Given the description of an element on the screen output the (x, y) to click on. 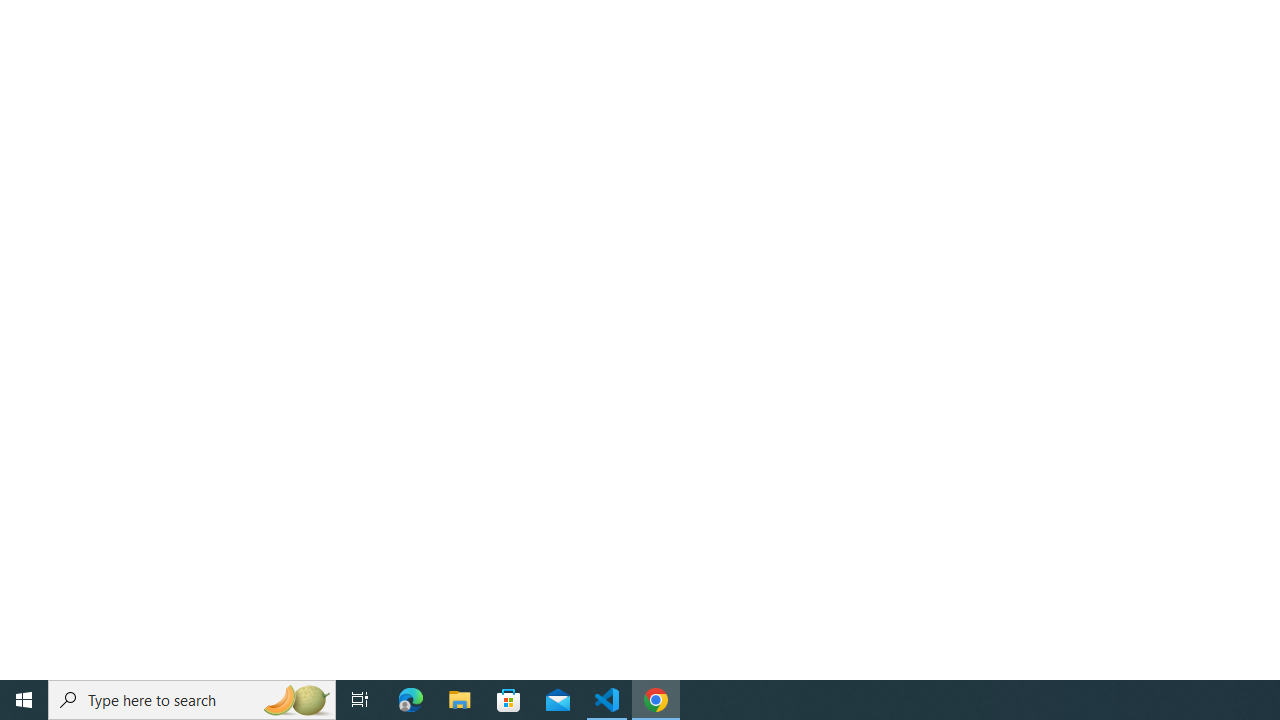
Task View (359, 699)
Visual Studio Code - 1 running window (607, 699)
Microsoft Store (509, 699)
Google Chrome - 1 running window (656, 699)
File Explorer (460, 699)
Search highlights icon opens search home window (295, 699)
Microsoft Edge (411, 699)
Start (24, 699)
Type here to search (191, 699)
